Given the description of an element on the screen output the (x, y) to click on. 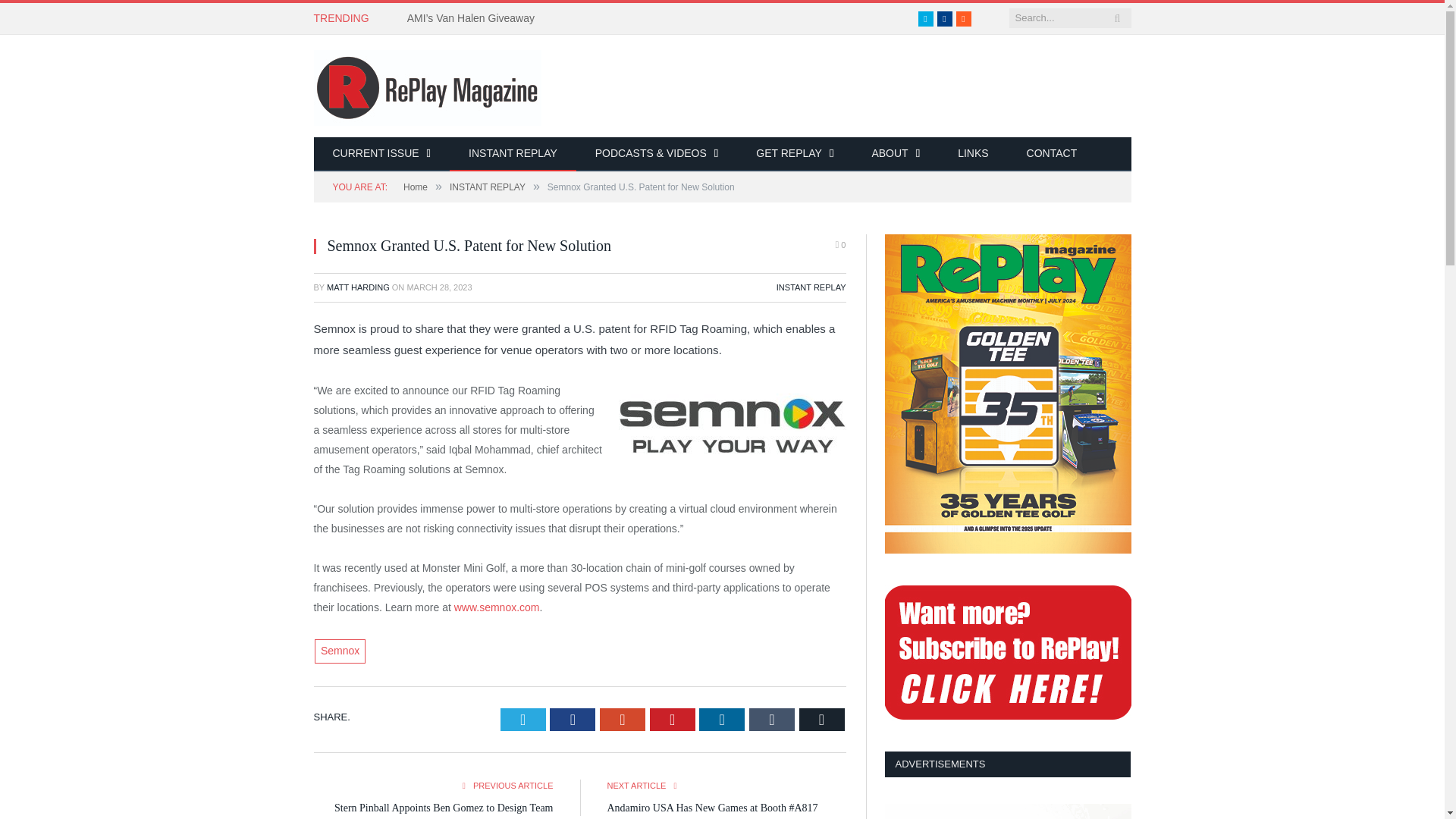
CURRENT ISSUE (381, 154)
2023-03-28 (438, 286)
Twitter (925, 18)
Facebook (944, 18)
RSS (963, 18)
Posts by Matt Harding (358, 286)
INSTANT REPLAY (512, 154)
RePlay Magazine (427, 85)
